Given the description of an element on the screen output the (x, y) to click on. 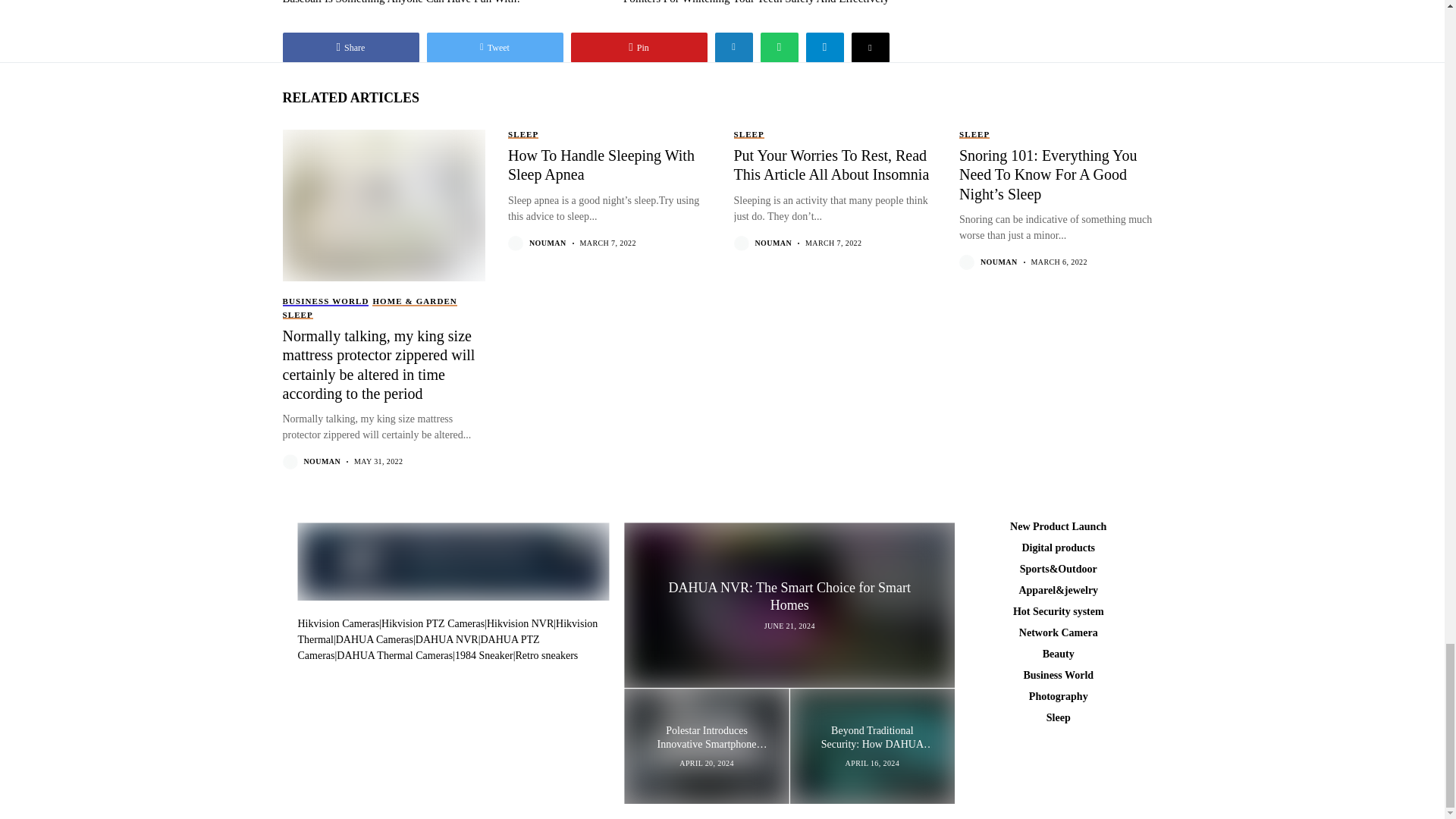
Posts by Nouman (321, 461)
HIKVISION NVR (519, 623)
HIKVISION Cameras (337, 623)
Dahua Cameras (374, 639)
HIKVISION PTZ Cameras (432, 623)
Posts by Nouman (998, 261)
HIKVISION NVR (446, 631)
Posts by Nouman (547, 243)
Posts by Nouman (773, 243)
